Given the description of an element on the screen output the (x, y) to click on. 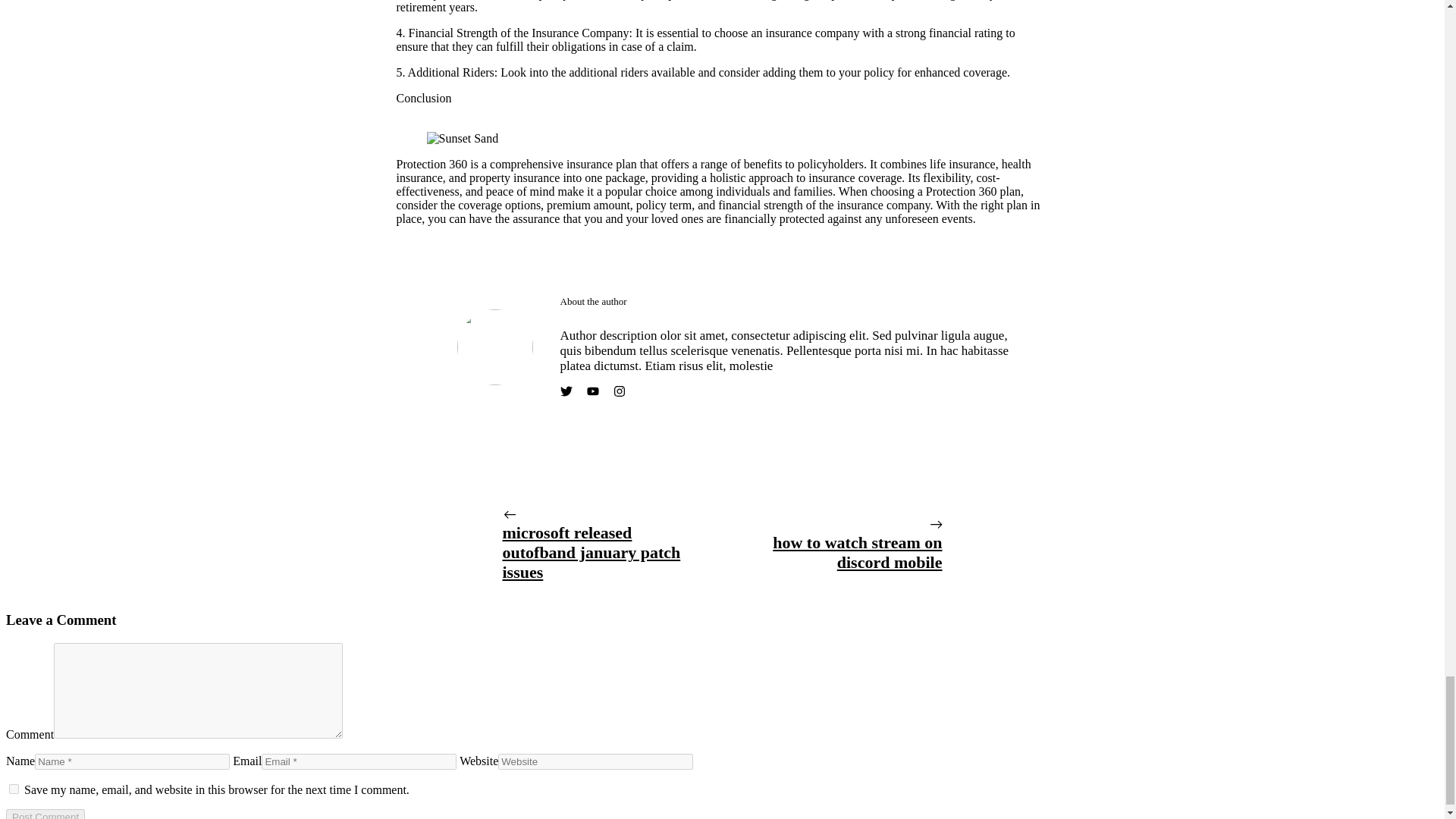
yes (13, 788)
testimonials-2 (494, 346)
microsoft released outofband january patch issues (590, 552)
how to watch stream on discord mobile (857, 552)
Sunset Sand (461, 138)
